Given the description of an element on the screen output the (x, y) to click on. 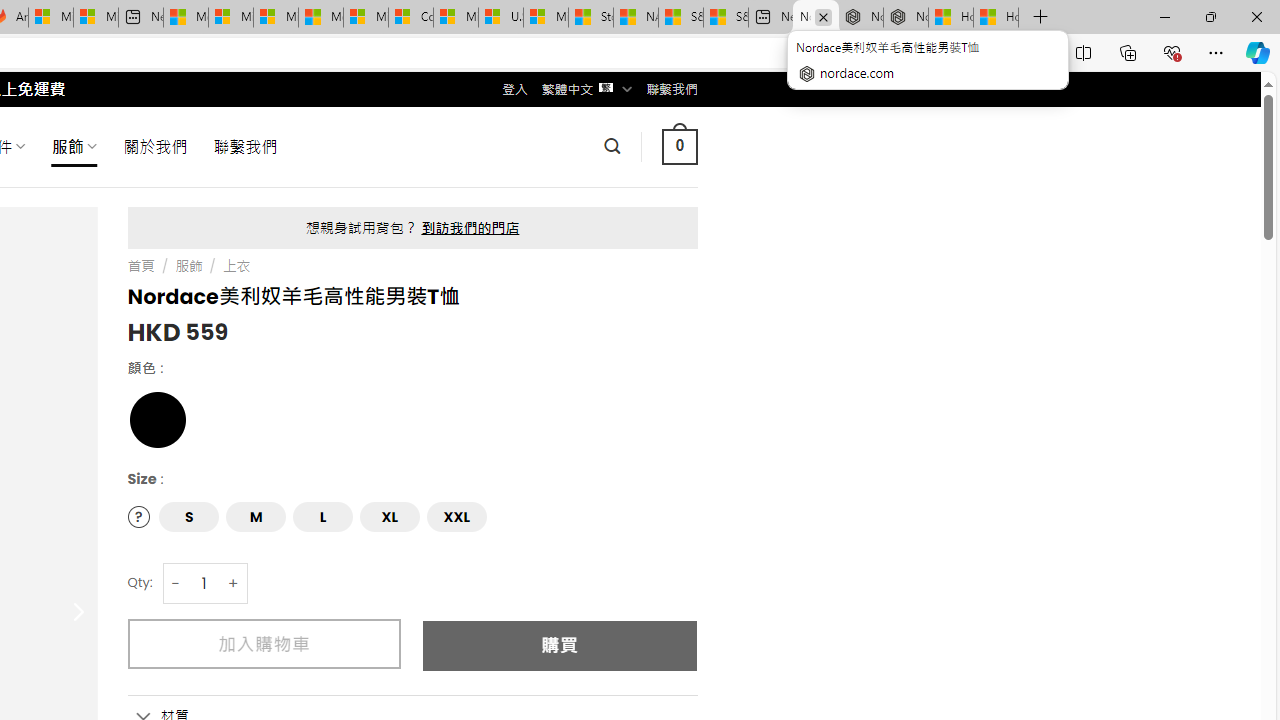
New Tab (1040, 17)
Browser essentials (1171, 52)
Copilot (Ctrl+Shift+.) (1258, 52)
Microsoft account | Privacy (230, 17)
  0   (679, 146)
Minimize (1164, 16)
- (175, 583)
S&P 500, Nasdaq end lower, weighed by Nvidia dip | Watch (725, 17)
Collections (1128, 52)
